Given the description of an element on the screen output the (x, y) to click on. 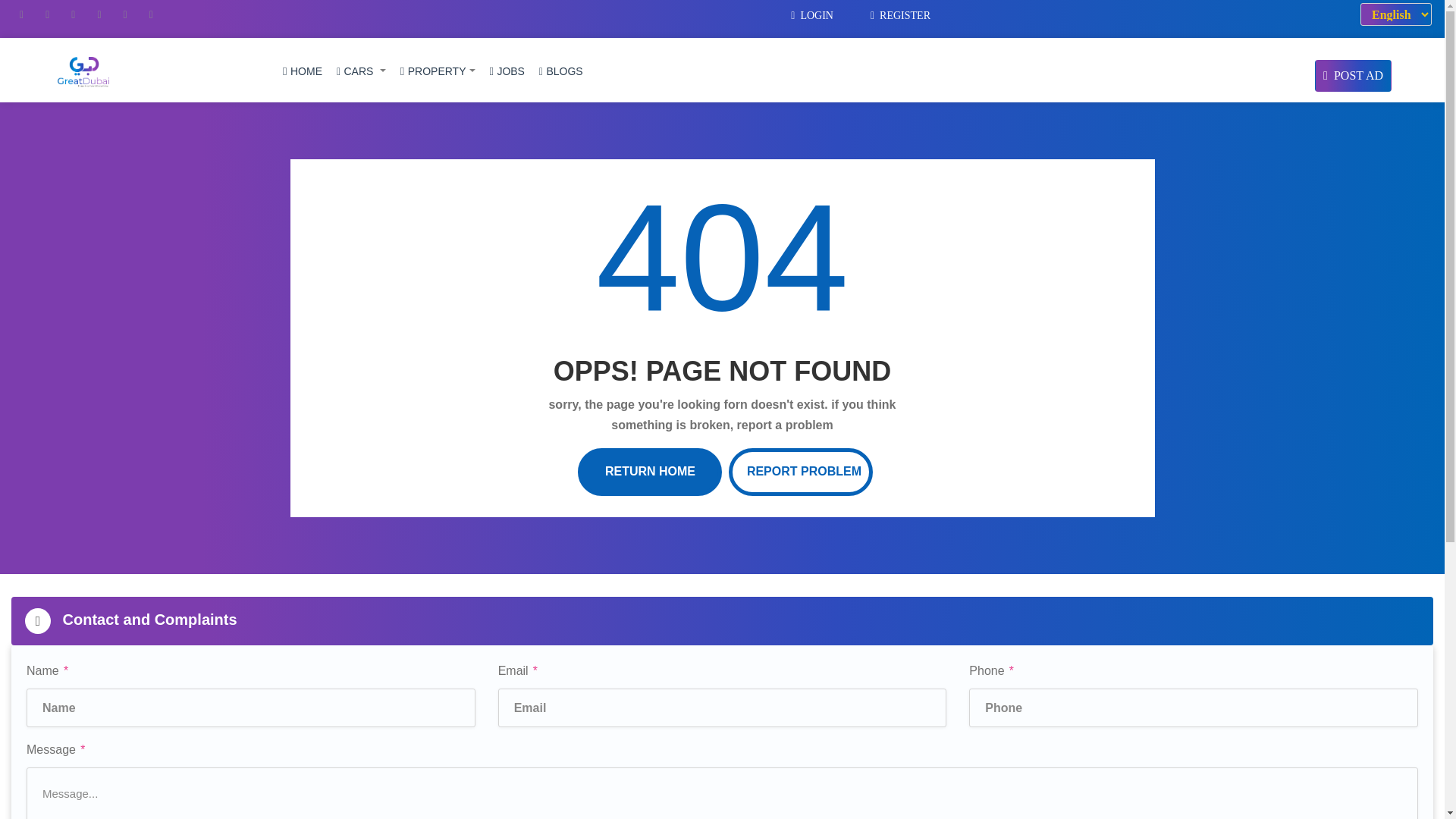
   CARS (358, 70)
   HOME (299, 70)
YouTube (152, 14)
  REGISTER (901, 15)
   PROPERTY (434, 70)
  POST AD (1352, 75)
Facebook (22, 14)
LinkedIn (74, 14)
Instagram (100, 14)
  LOGIN (813, 15)
Pinterest (125, 14)
   BLOGS (557, 70)
   JOBS (503, 70)
Twitter (48, 14)
